Given the description of an element on the screen output the (x, y) to click on. 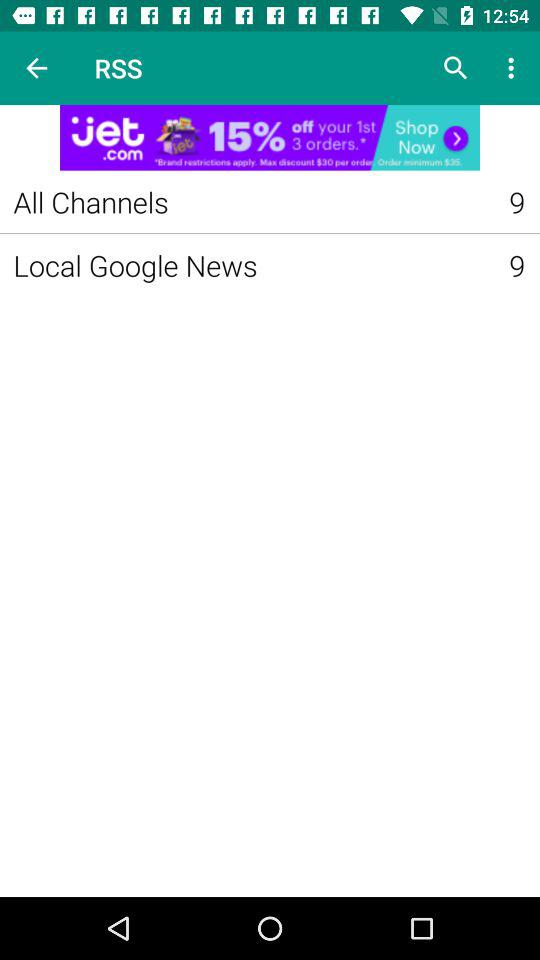
advertisement (270, 137)
